Given the description of an element on the screen output the (x, y) to click on. 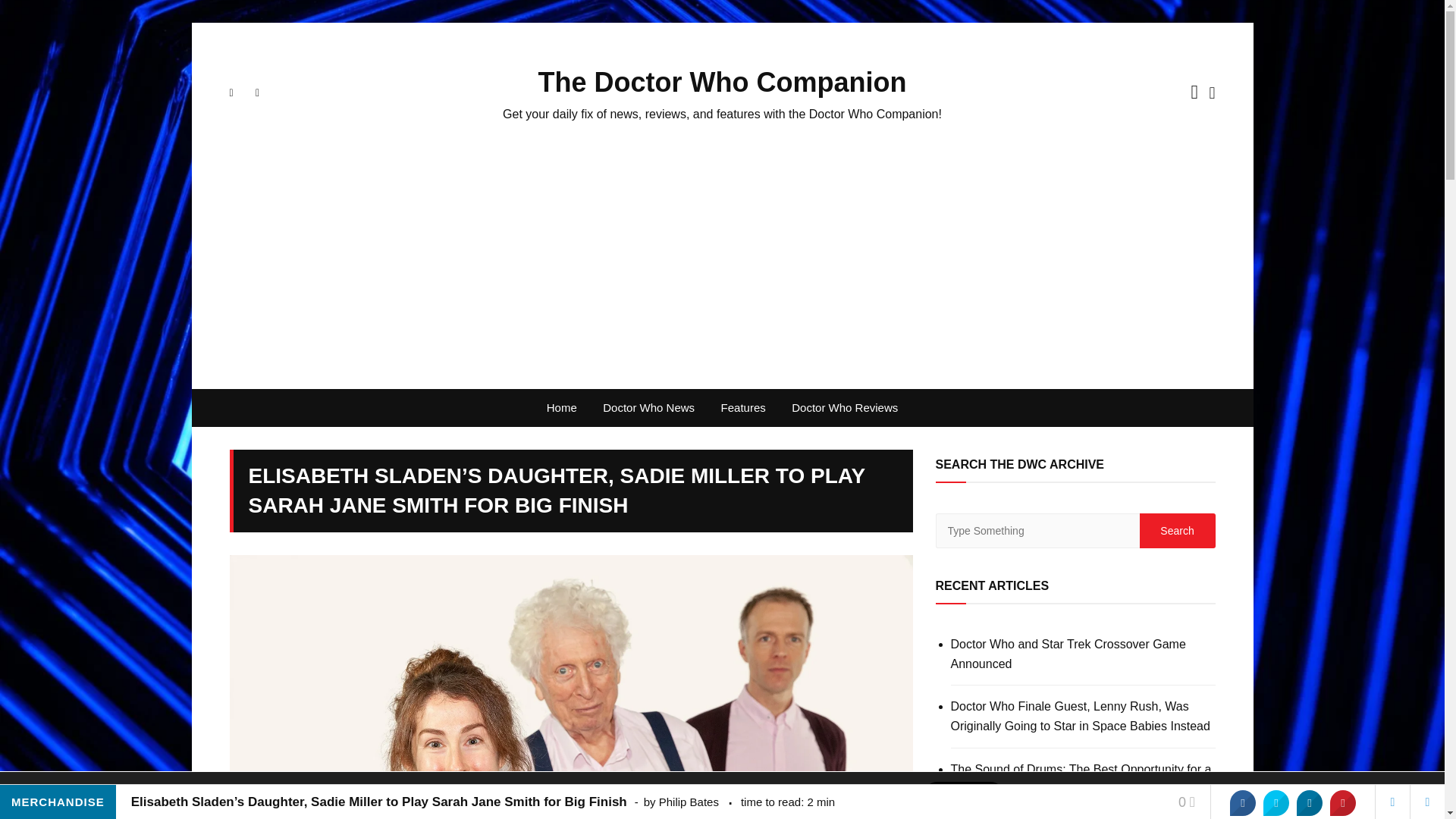
Home (561, 407)
Doctor Who Reviews (844, 407)
Search (1176, 530)
Doctor Who News (648, 407)
Features (743, 407)
The Doctor Who Companion (722, 81)
